Given the description of an element on the screen output the (x, y) to click on. 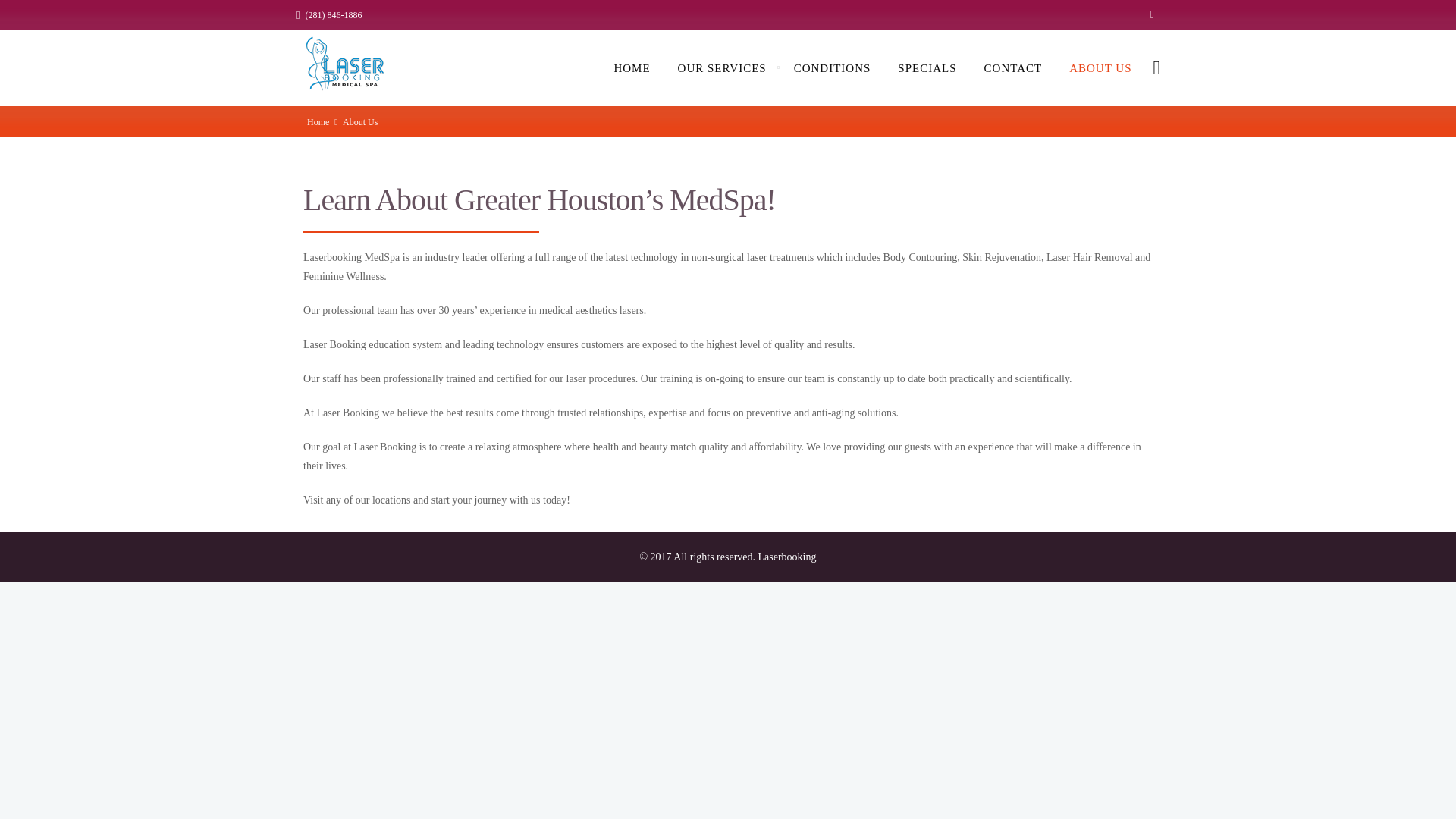
HOME (631, 67)
ABOUT US (1099, 67)
OUR SERVICES (721, 67)
CONDITIONS (832, 67)
SPECIALS (926, 67)
CONTACT (1014, 67)
